Given the description of an element on the screen output the (x, y) to click on. 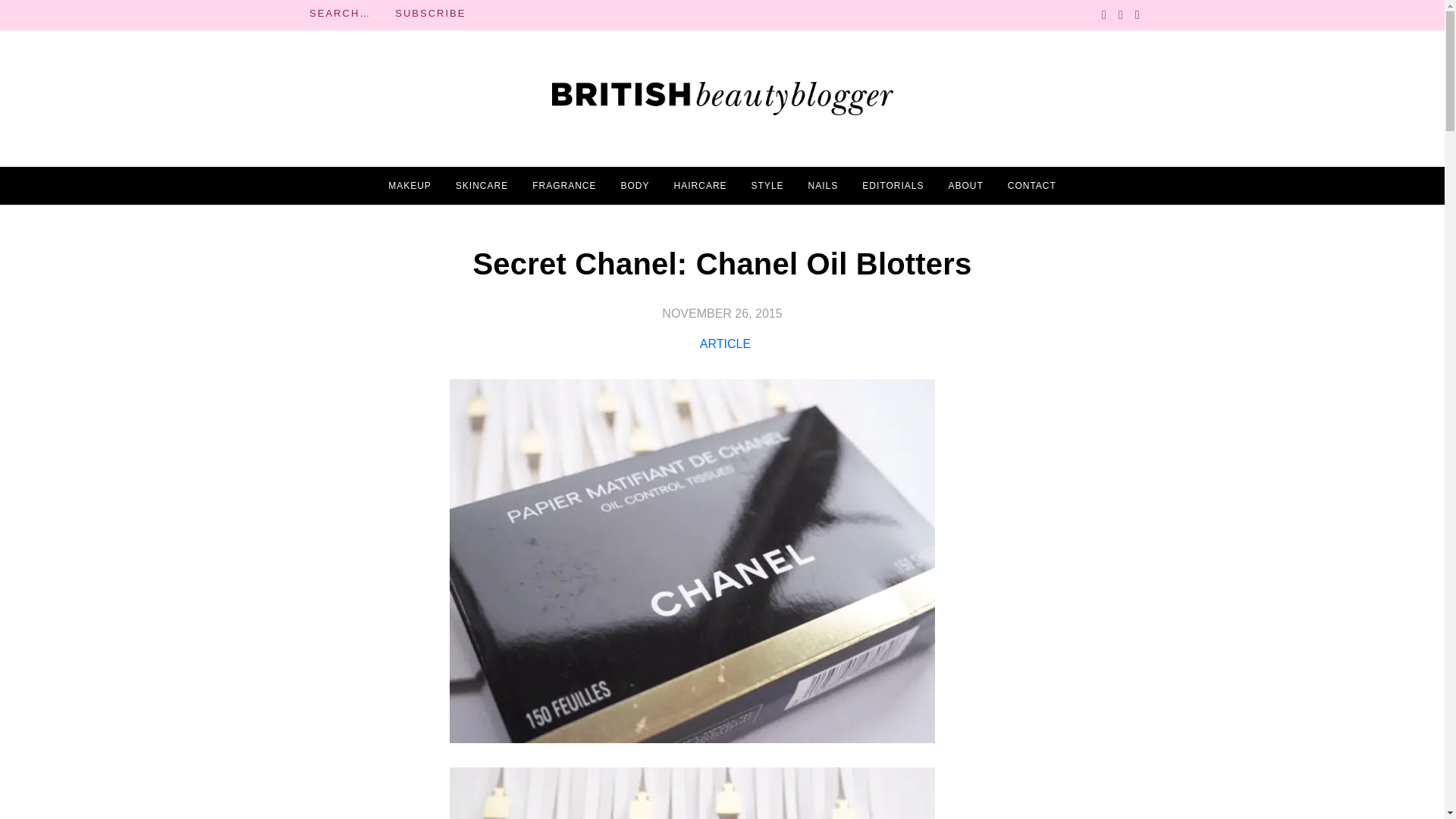
FRAGRANCE (563, 185)
CONTACT (1032, 185)
ABOUT (964, 185)
BODY (635, 185)
SKINCARE (481, 185)
HAIRCARE (700, 185)
ARTICLE (725, 343)
MAKEUP (409, 185)
SUBSCRIBE (429, 13)
NAILS (823, 185)
EDITORIALS (892, 185)
STYLE (767, 185)
